Given the description of an element on the screen output the (x, y) to click on. 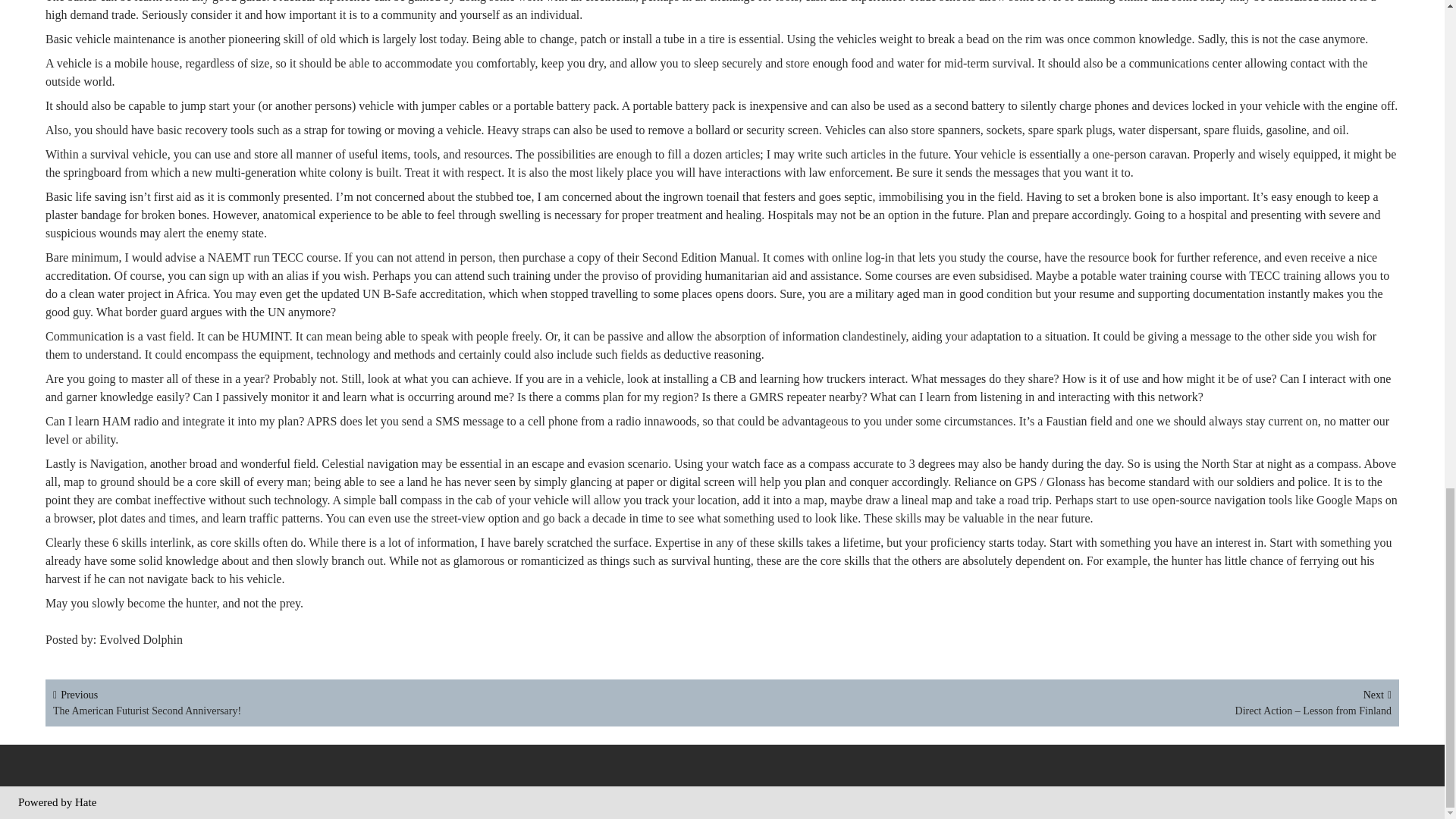
Evolved Dolphin (143, 639)
